Given the description of an element on the screen output the (x, y) to click on. 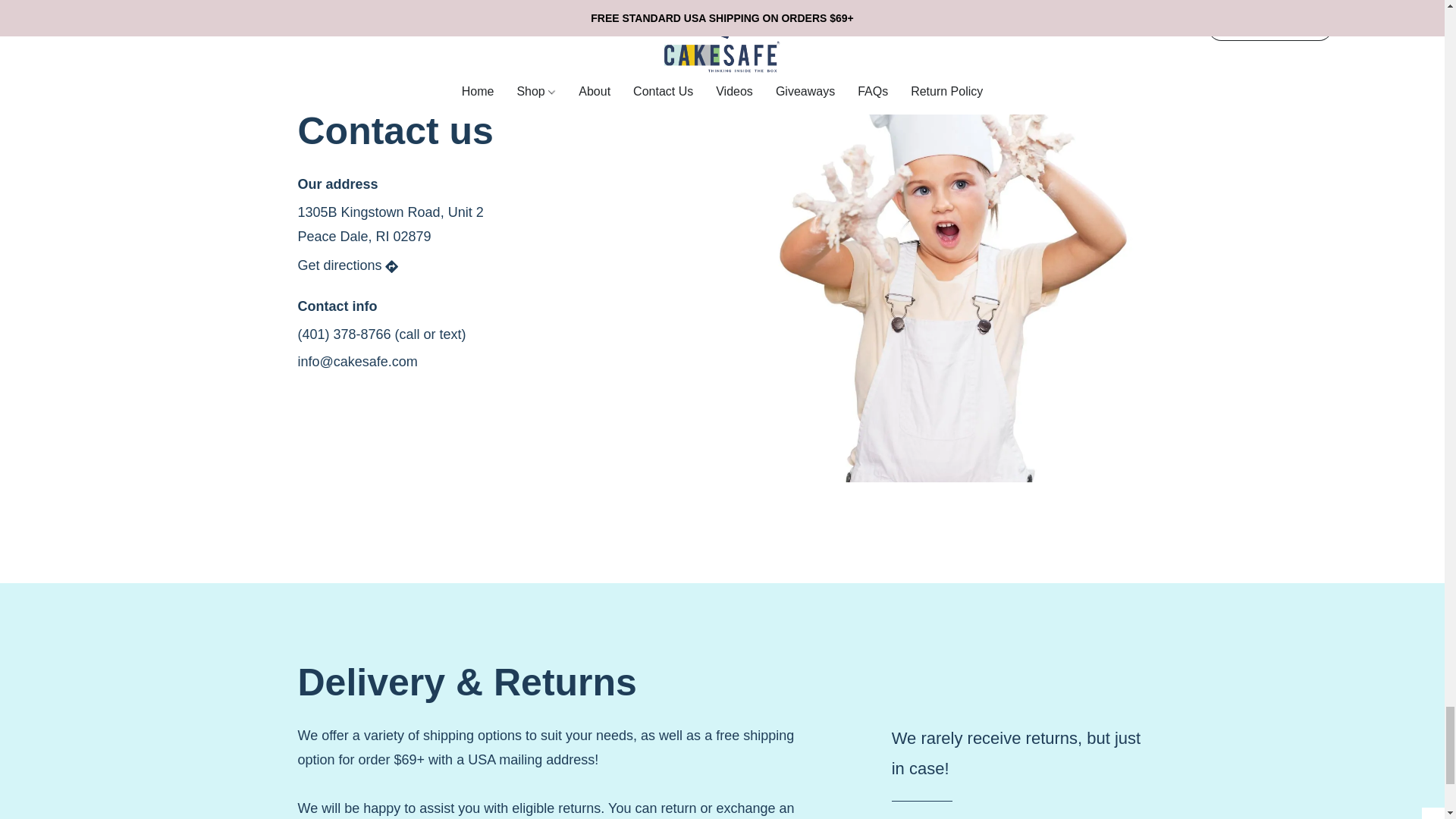
TikTok (405, 416)
Instagram (358, 416)
Facebook (313, 416)
Get directions (348, 265)
